Given the description of an element on the screen output the (x, y) to click on. 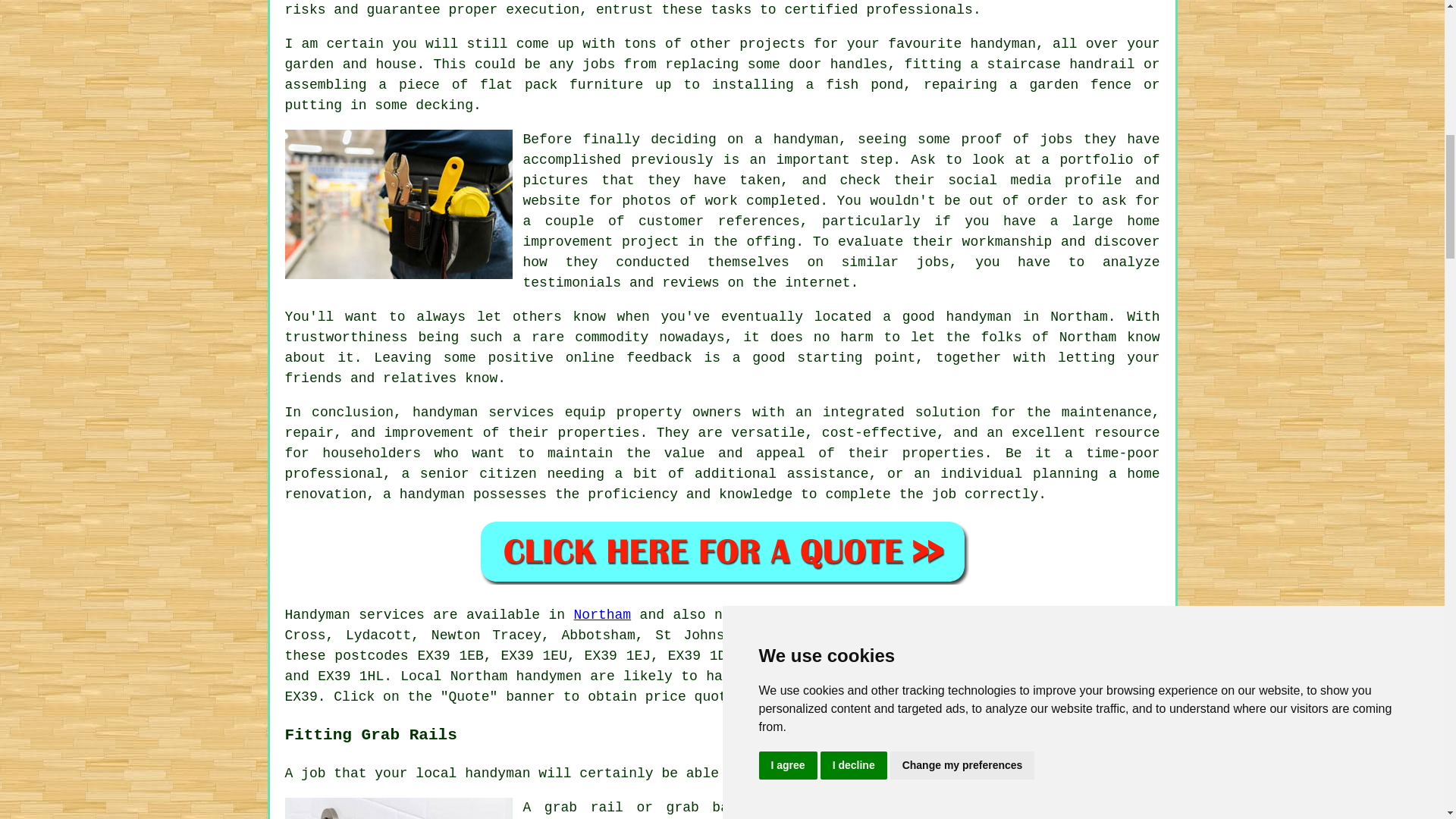
handyman (816, 696)
Handyman services (355, 614)
Handyman Installed Grab Rails Northam (398, 808)
handymen (548, 676)
